Given the description of an element on the screen output the (x, y) to click on. 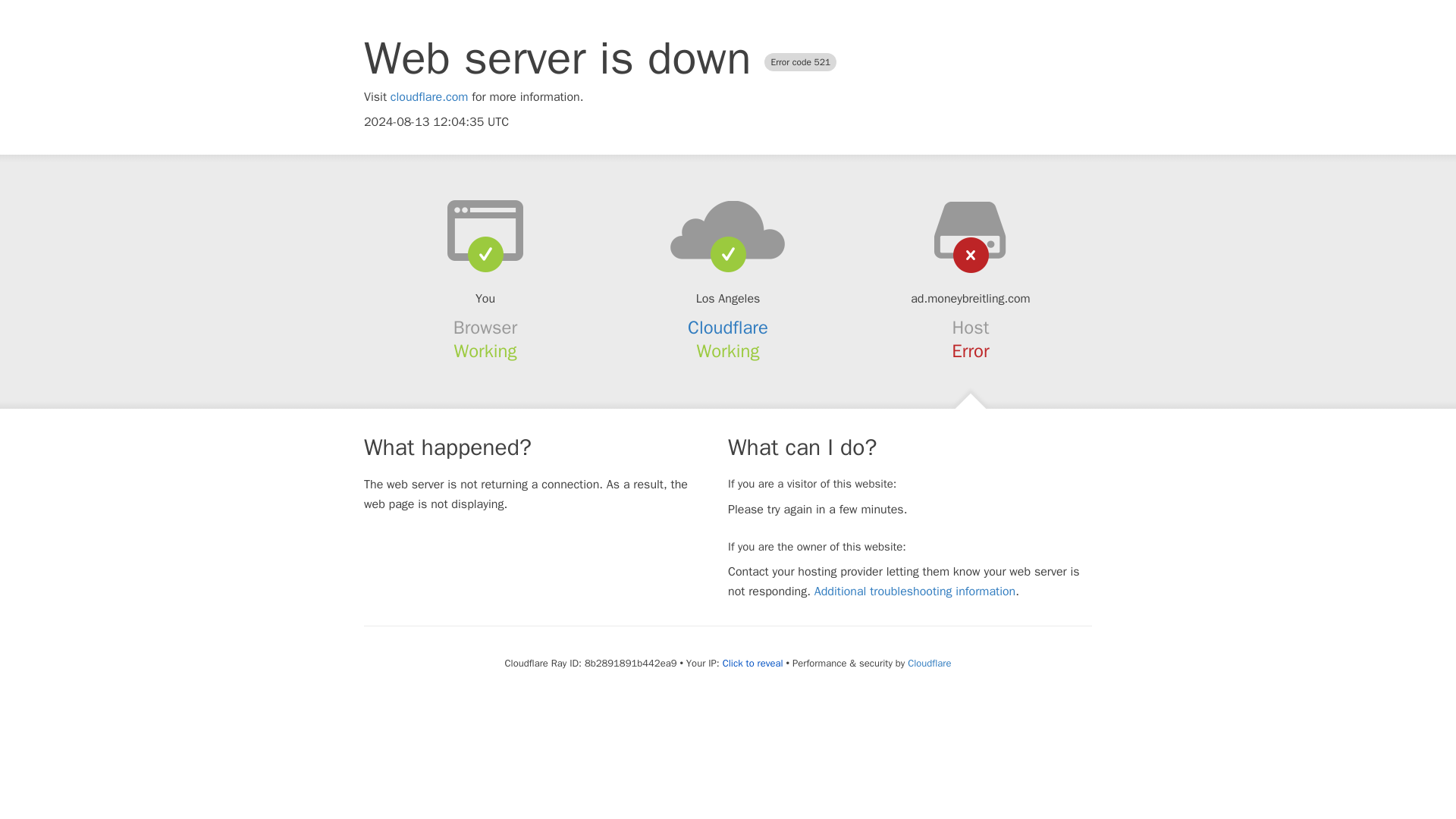
cloudflare.com (429, 96)
Cloudflare (727, 327)
Additional troubleshooting information (913, 590)
Cloudflare (928, 662)
Click to reveal (752, 663)
